Given the description of an element on the screen output the (x, y) to click on. 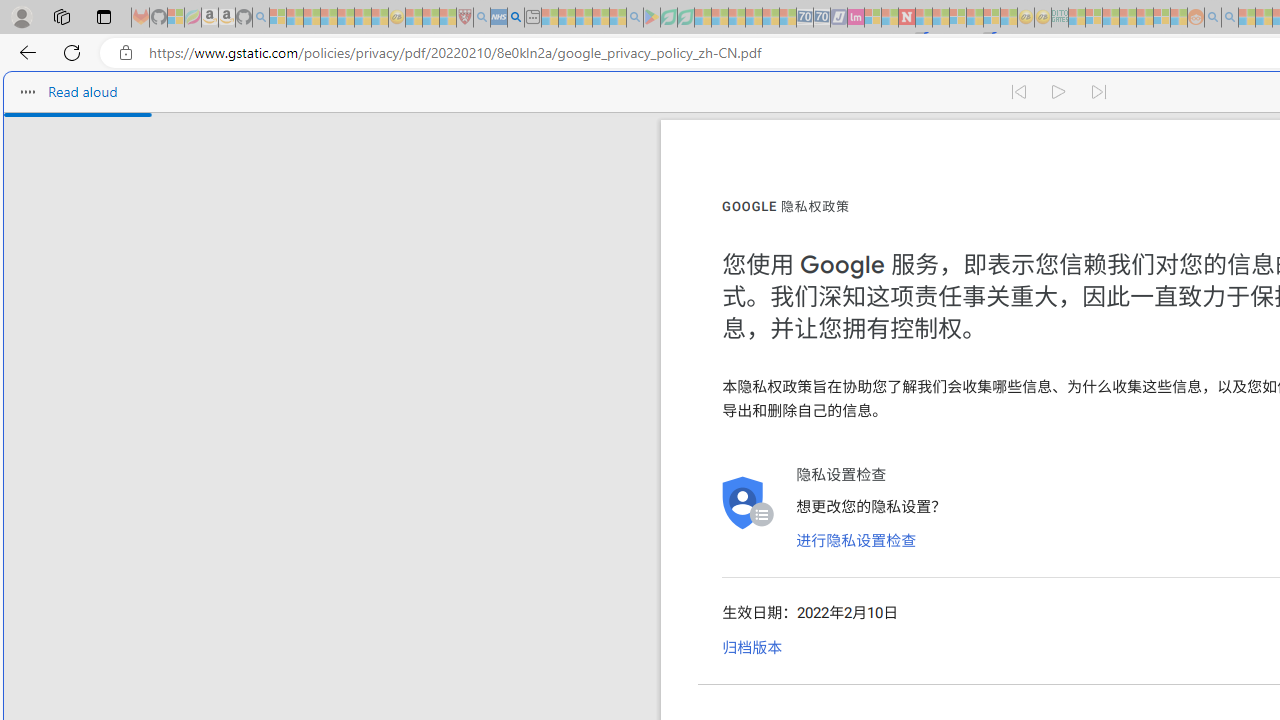
Read previous paragraph (1018, 92)
Expert Portfolios - Sleeping (1128, 17)
Continue to read aloud (Ctrl+Shift+U) (1059, 92)
Jobs - lastminute.com Investor Portal - Sleeping (855, 17)
google - Search - Sleeping (634, 17)
Microsoft-Report a Concern to Bing - Sleeping (175, 17)
